Given the description of an element on the screen output the (x, y) to click on. 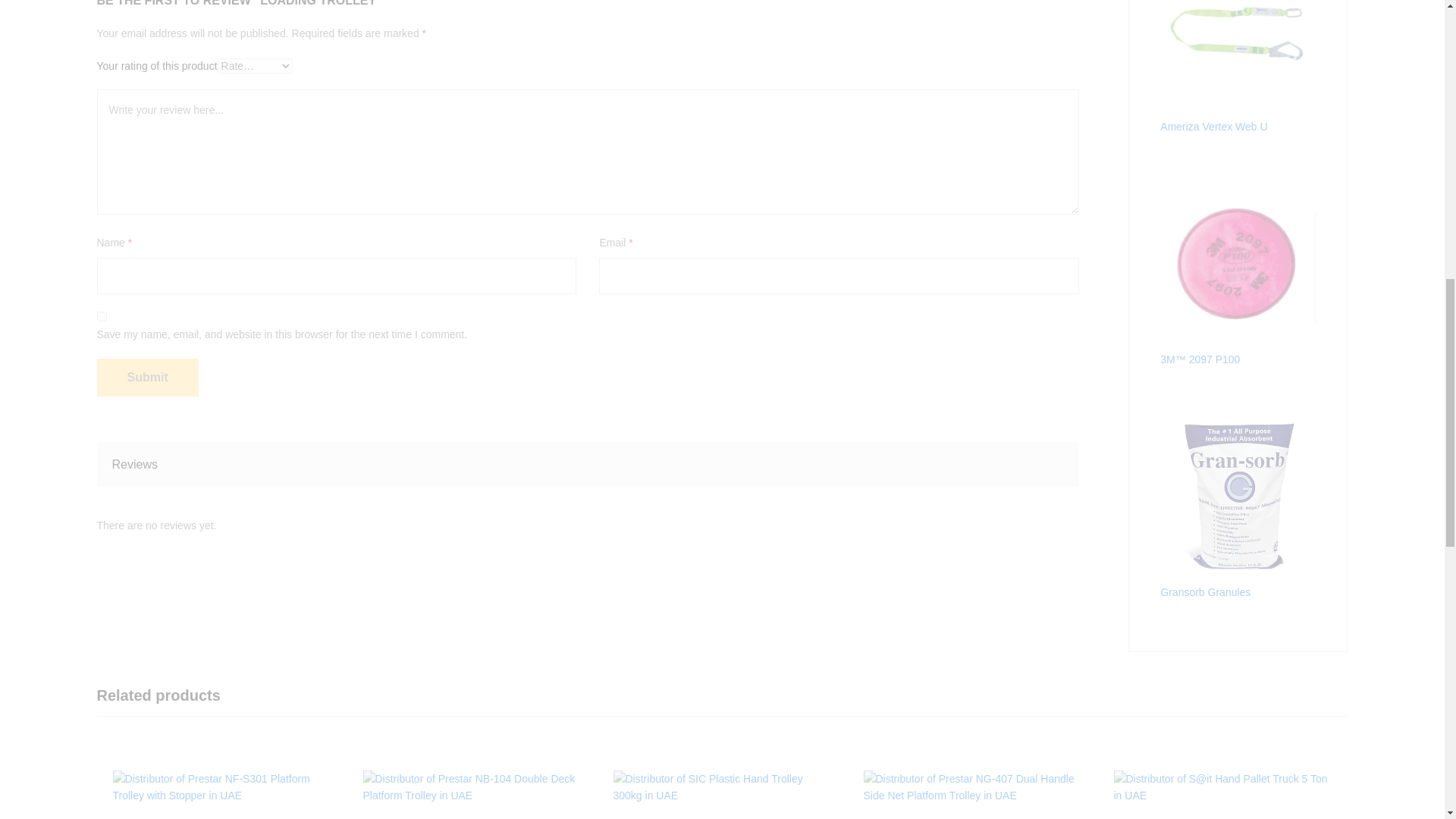
Submit (147, 377)
yes (101, 316)
